Given the description of an element on the screen output the (x, y) to click on. 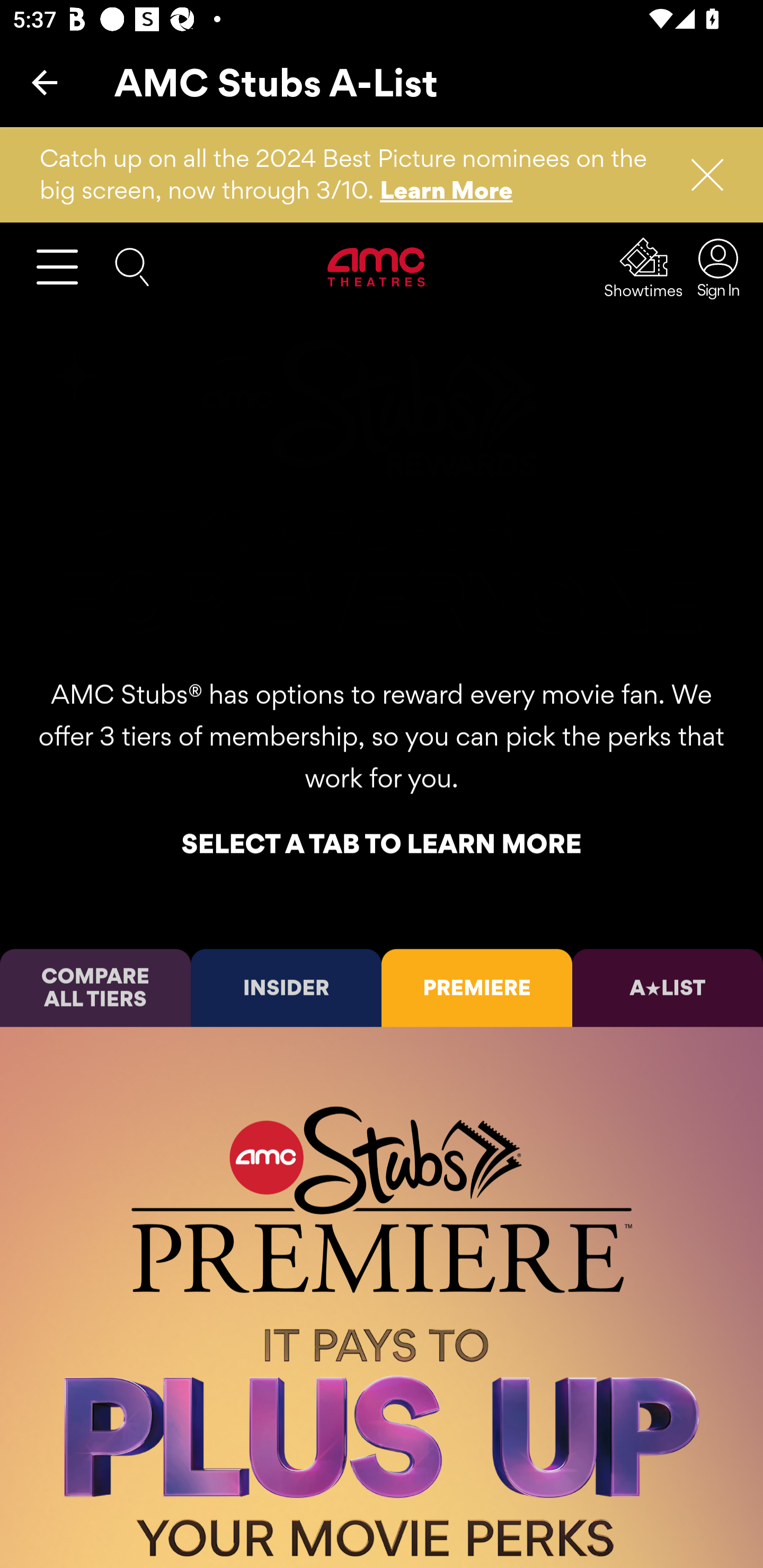
Back (44, 82)
Dismiss Notification (699, 174)
Learn More (446, 189)
Open Menu (64, 266)
Showtimes Showtimes Showtimes (643, 267)
Sign In (713, 267)
Search the AMC website (131, 265)
Visit Home Page AMC Theatres Logo (377, 266)
COMPARE ALL TIERS COMPARE ALL TIERS (95, 987)
INSIDER (285, 987)
PREMIERE (476, 987)
A★LIST (667, 987)
